Given the description of an element on the screen output the (x, y) to click on. 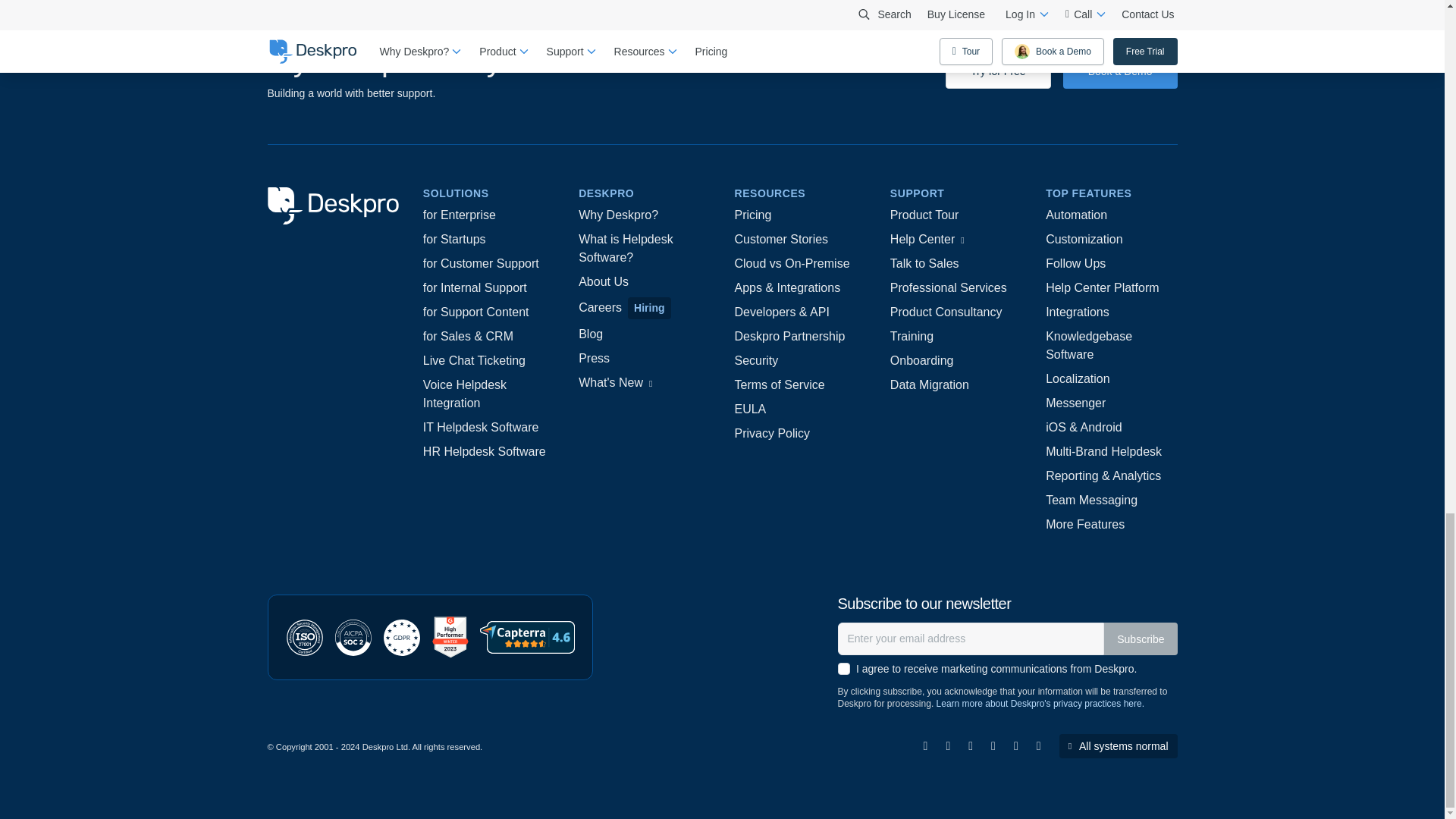
What is Helpdesk Software? (644, 248)
About Us (603, 281)
LinkedIn (925, 746)
HR Helpdesk Software (484, 452)
Book a Demo (1119, 71)
for Internal Support (475, 288)
for Startups (454, 239)
Blog (590, 334)
GitHub (1038, 746)
Twitter (970, 746)
for Customer Support (480, 263)
Careers Hiring (623, 308)
Why Deskpro? (618, 215)
for Support Content (476, 312)
YouTube (1015, 746)
